Given the description of an element on the screen output the (x, y) to click on. 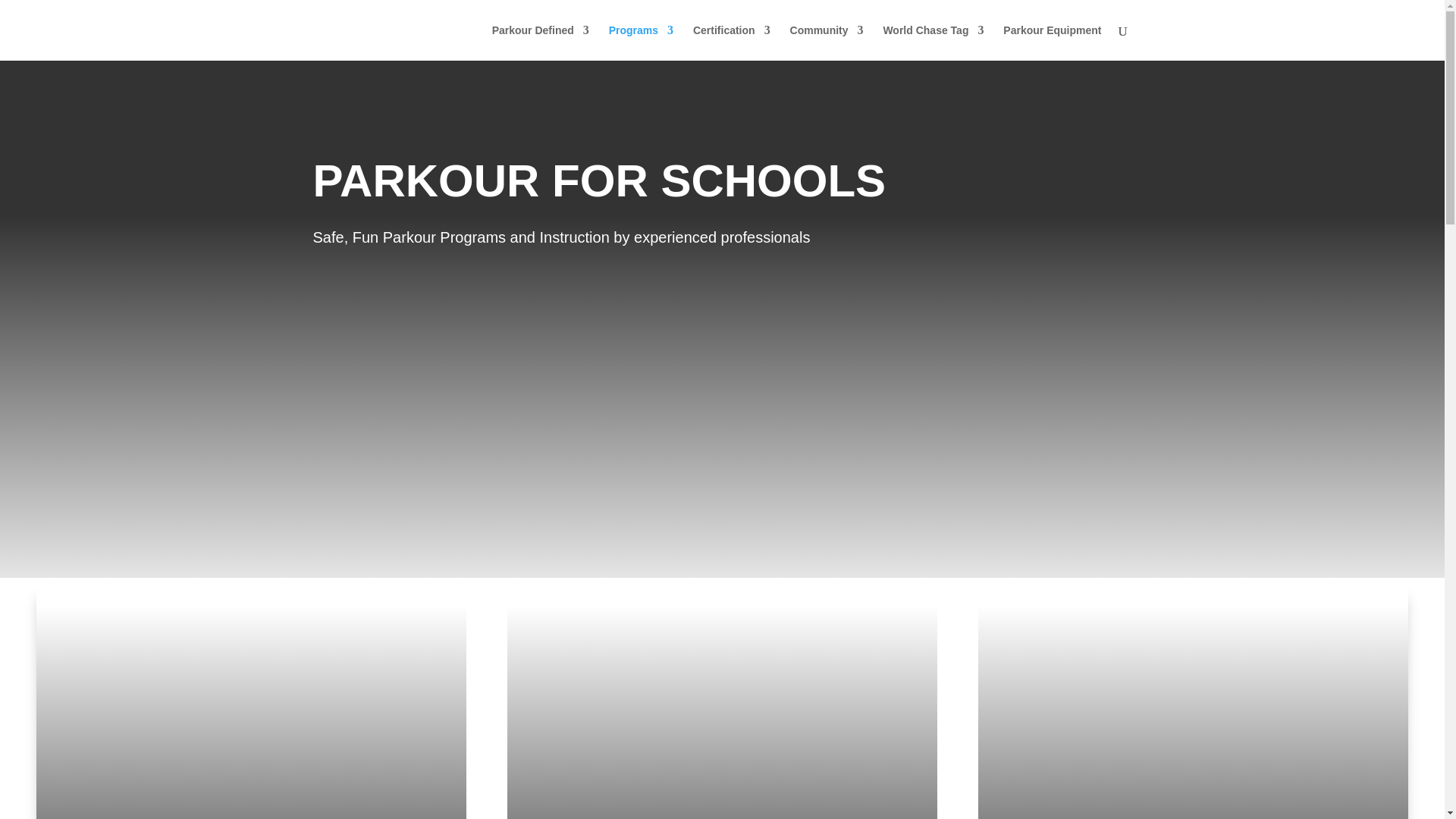
Community (826, 42)
Programs (640, 42)
World Chase Tag (933, 42)
Parkour Equipment (1051, 42)
Certification (731, 42)
Parkour Defined (540, 42)
